Given the description of an element on the screen output the (x, y) to click on. 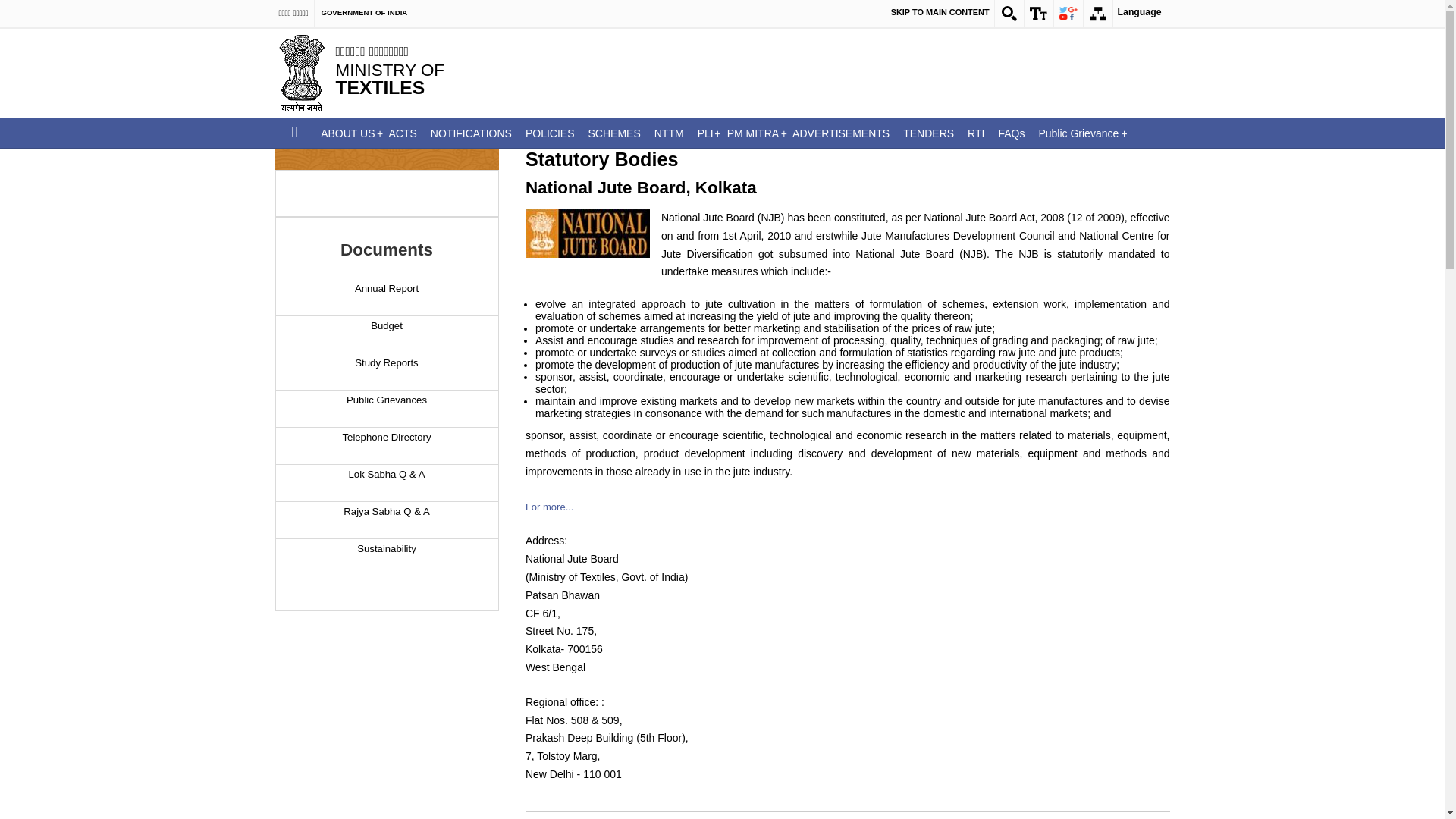
NTTM (668, 132)
Government of india,External Link that opens in a new window (363, 12)
Accessibility Dropdown (1038, 13)
NOTIFICATIONS (470, 132)
POLICIES (549, 132)
Site Search (1008, 13)
Home (294, 132)
SCHEMES (613, 132)
SKIP TO MAIN CONTENT (940, 10)
Social Medias (1068, 13)
ACTS (402, 132)
Sitemap (1097, 13)
Select Language (1139, 13)
GOVERNMENT OF INDIA (363, 12)
Language (1139, 13)
